Given the description of an element on the screen output the (x, y) to click on. 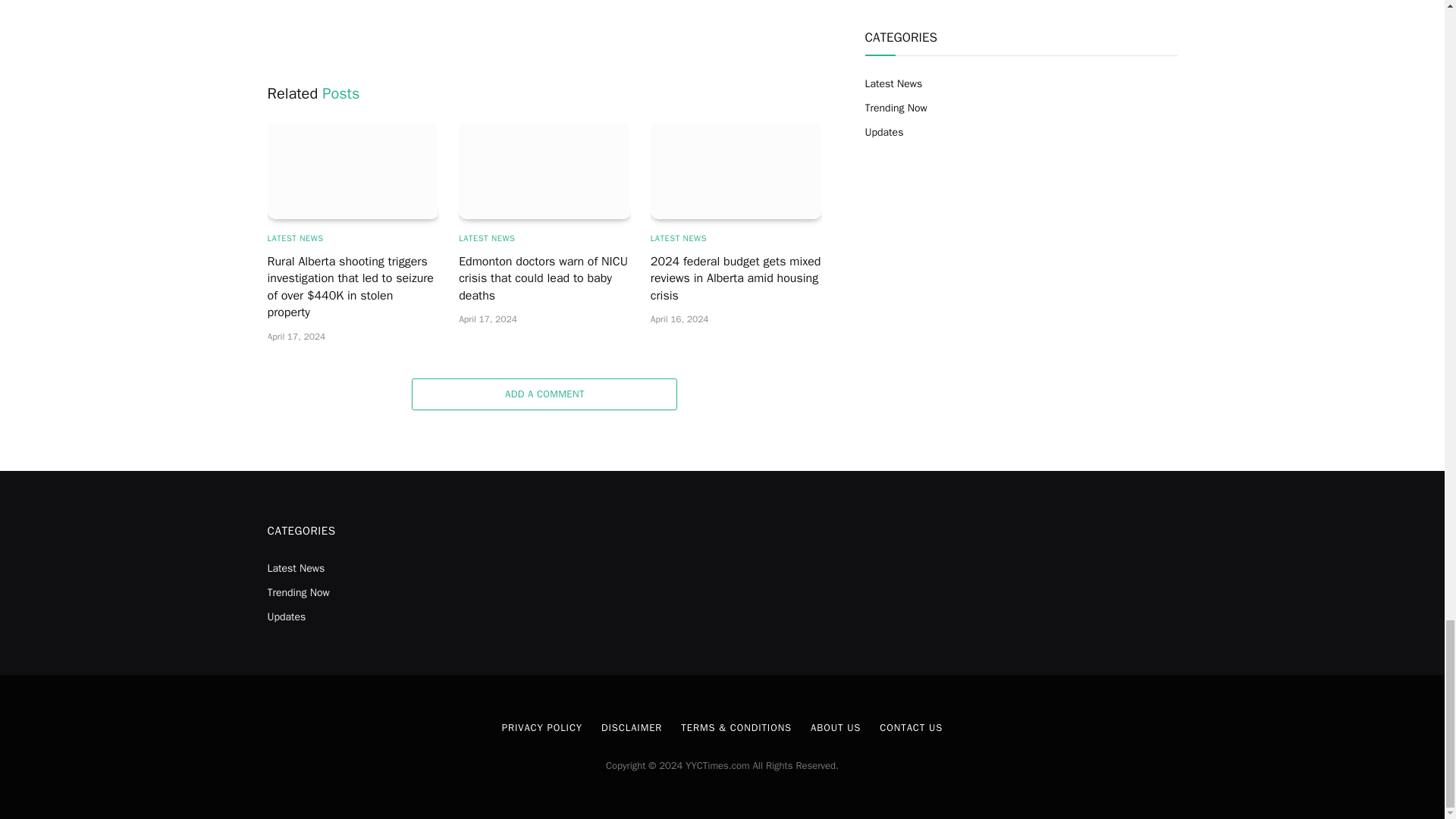
LATEST NEWS (486, 237)
LATEST NEWS (678, 237)
ADD A COMMENT (544, 394)
LATEST NEWS (294, 237)
